Given the description of an element on the screen output the (x, y) to click on. 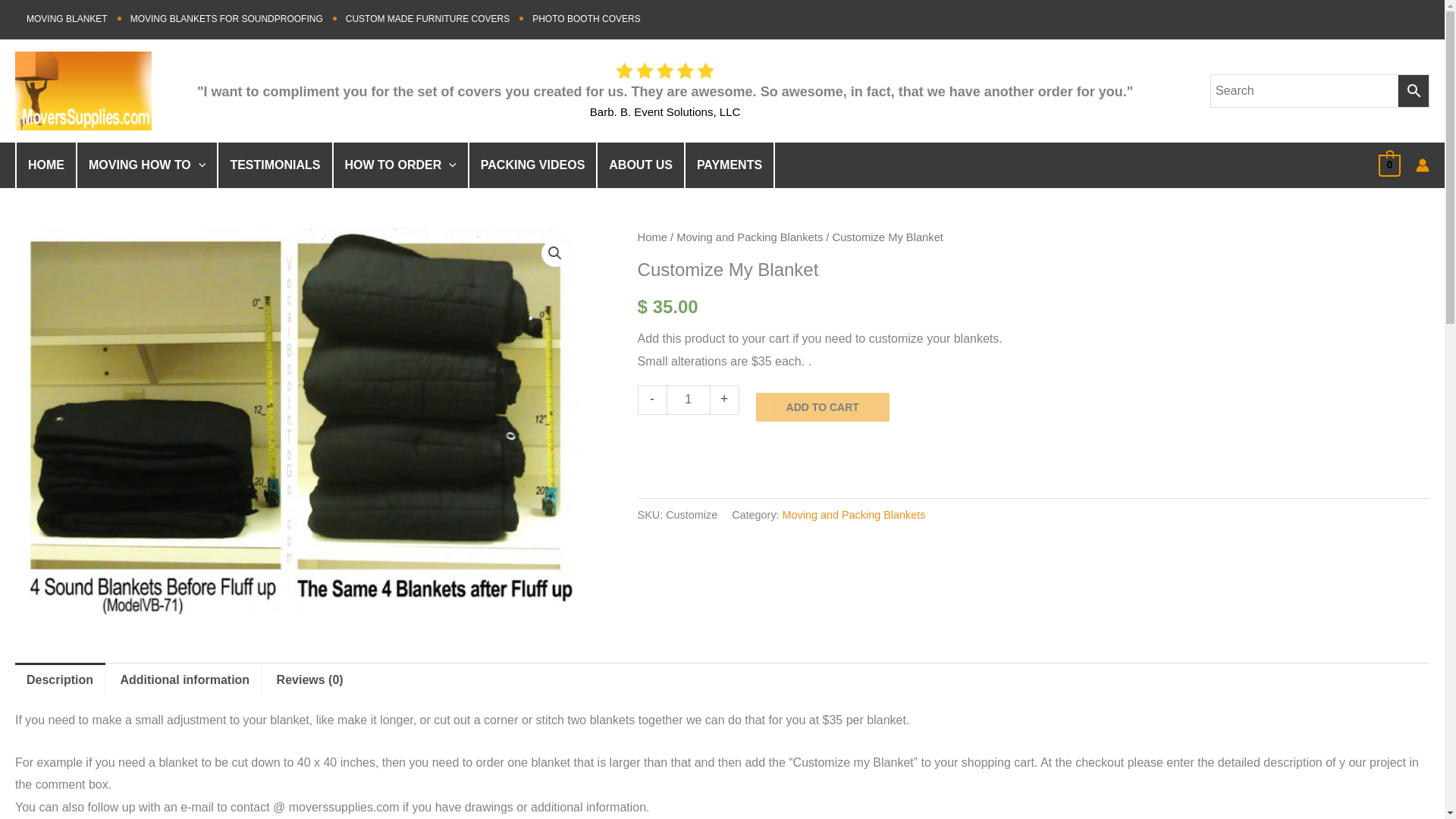
MOVING BLANKETS FOR SOUNDPROOFING (226, 18)
Home (651, 236)
PayPal Message 1 (1033, 440)
MOVING HOW TO (146, 165)
0 (1389, 164)
MOVING BLANKET (66, 18)
Moving and Packing Blankets (749, 236)
TESTIMONIALS (274, 165)
PAYMENTS (729, 165)
HOW TO ORDER (400, 165)
